Given the description of an element on the screen output the (x, y) to click on. 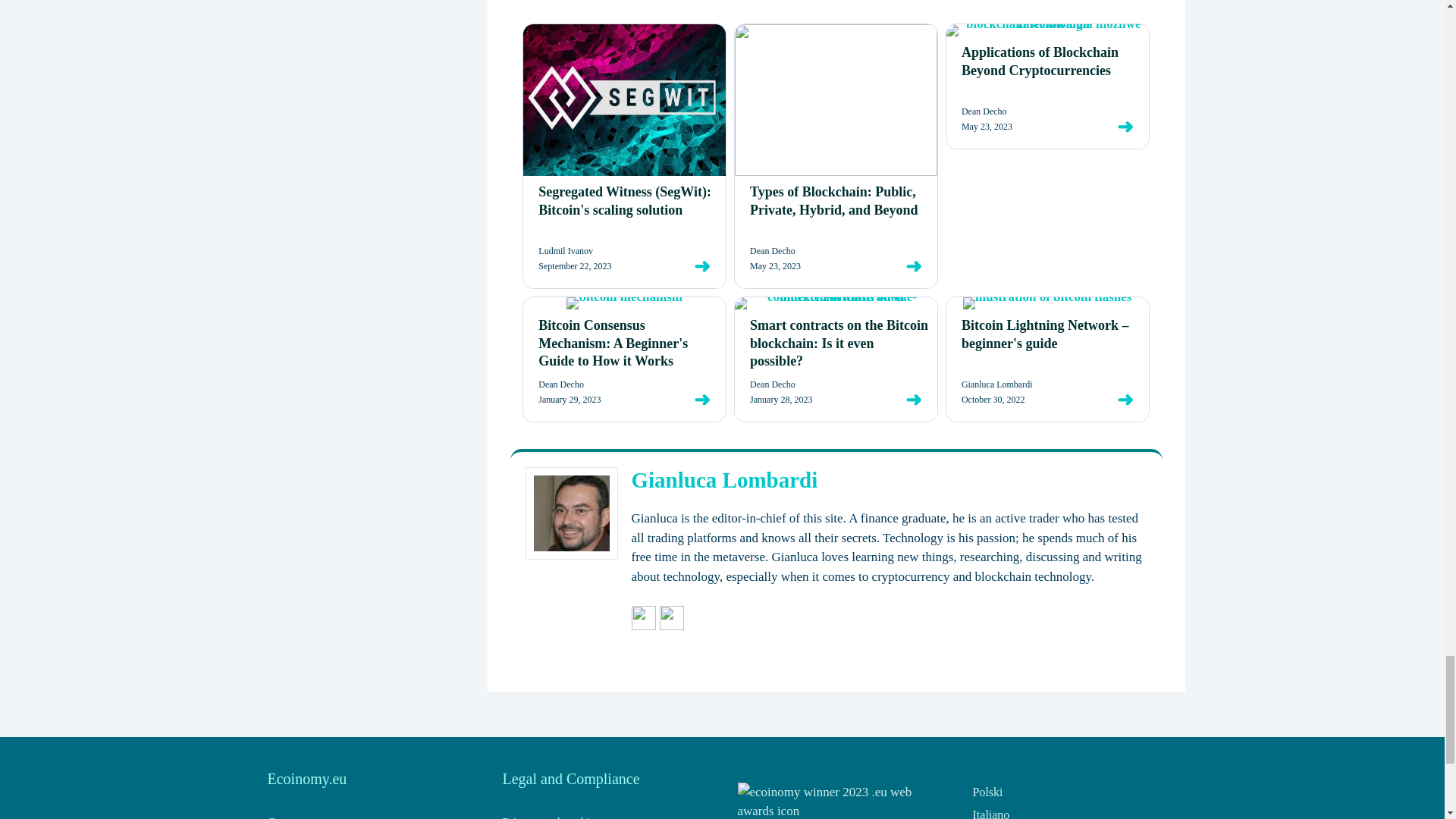
More Posts By Gianluca Lombardi (671, 295)
Contatto (287, 490)
Gianluca Lombardi (723, 148)
Send Gianluca Lombardi Mail (642, 295)
